Given the description of an element on the screen output the (x, y) to click on. 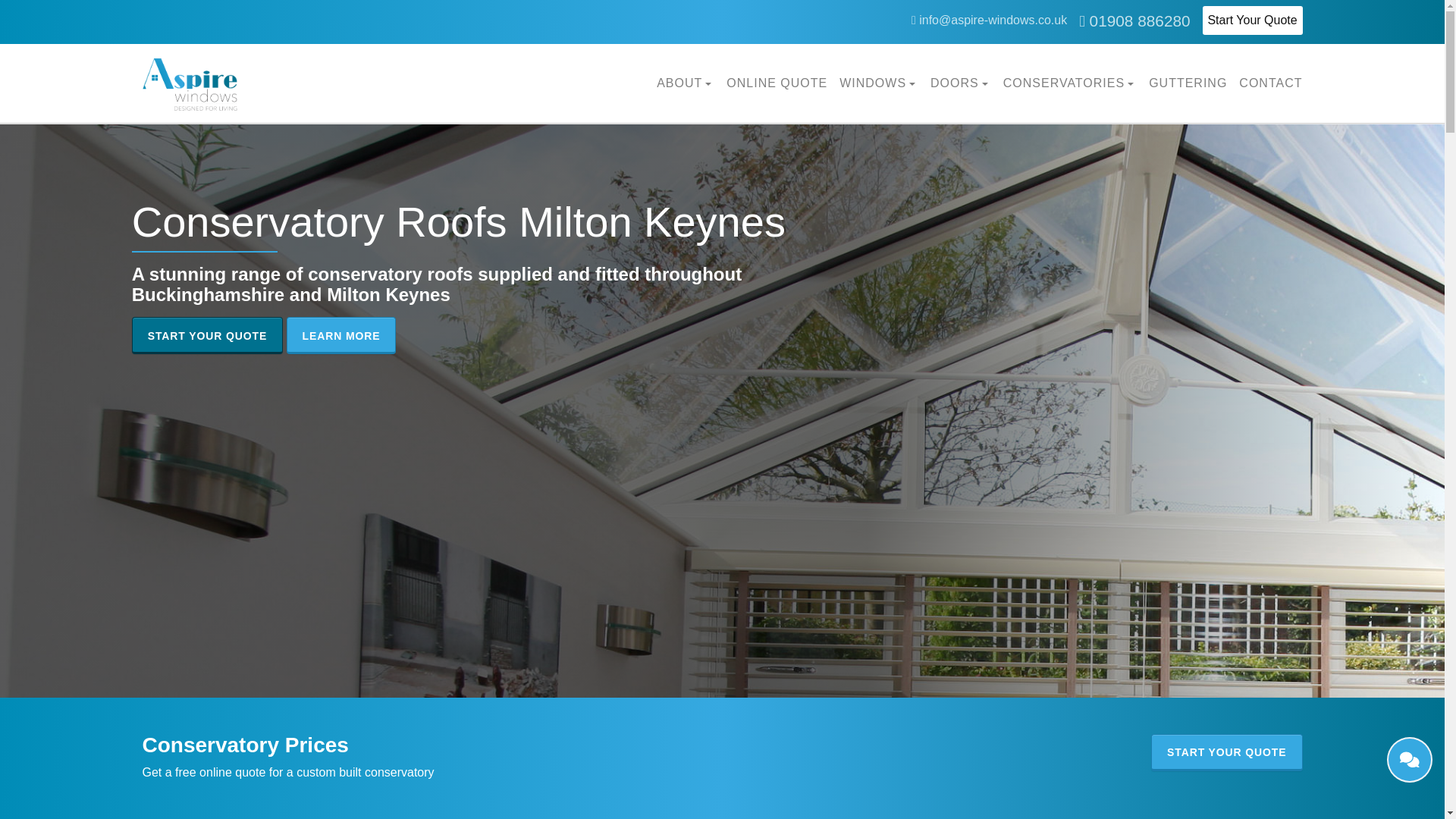
Online Quote (776, 82)
Start Your Quote (1252, 20)
DOORS (960, 82)
Windows (879, 82)
01908 886280 (1133, 20)
ABOUT (685, 82)
CONSERVATORIES (1070, 82)
ONLINE QUOTE (776, 82)
About (685, 82)
WINDOWS (879, 82)
